Given the description of an element on the screen output the (x, y) to click on. 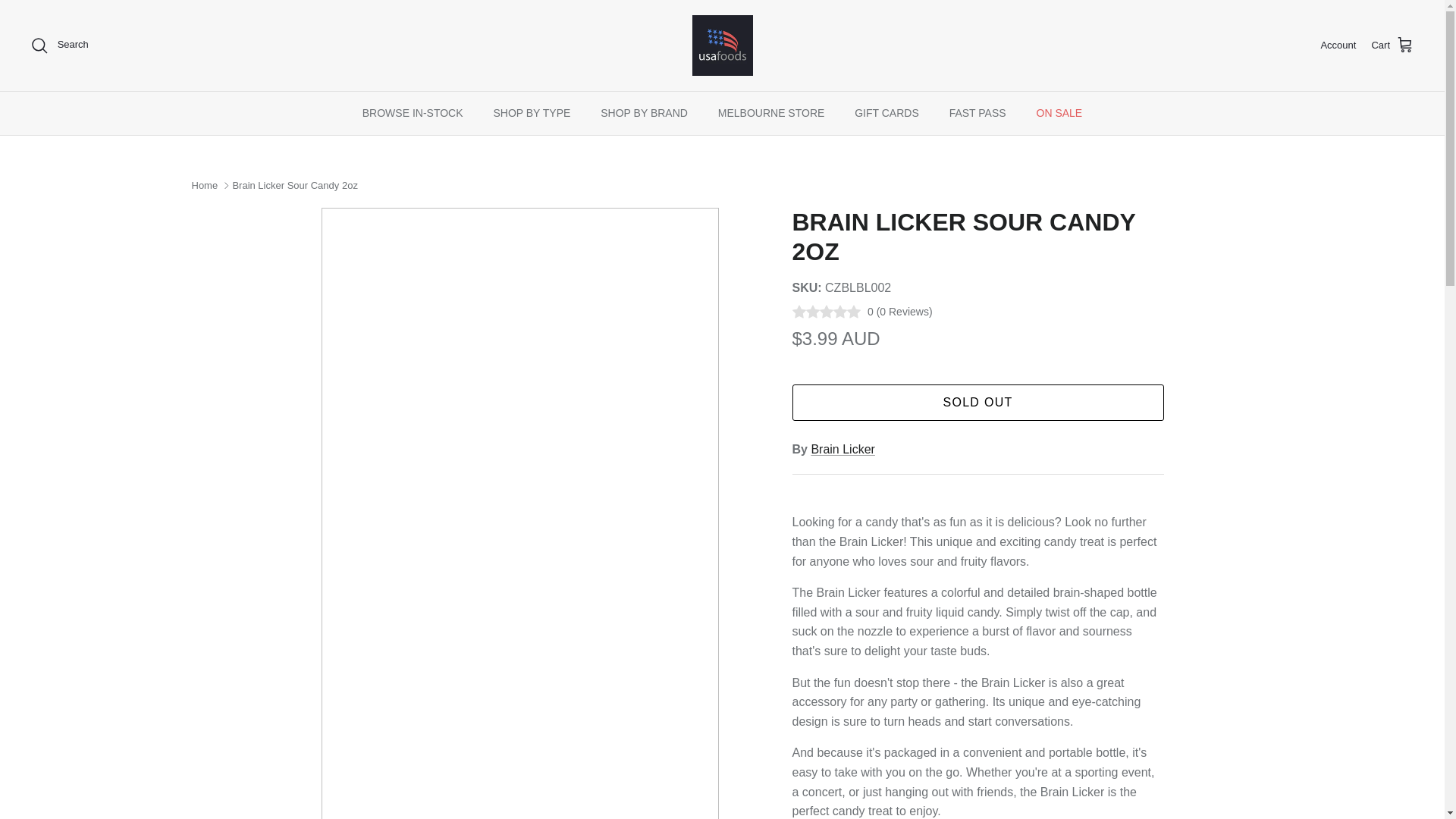
SHOP BY TYPE (531, 113)
Cart (1392, 45)
Account (1337, 45)
USAFoods (721, 45)
BROWSE IN-STOCK (413, 113)
Search (59, 45)
